Given the description of an element on the screen output the (x, y) to click on. 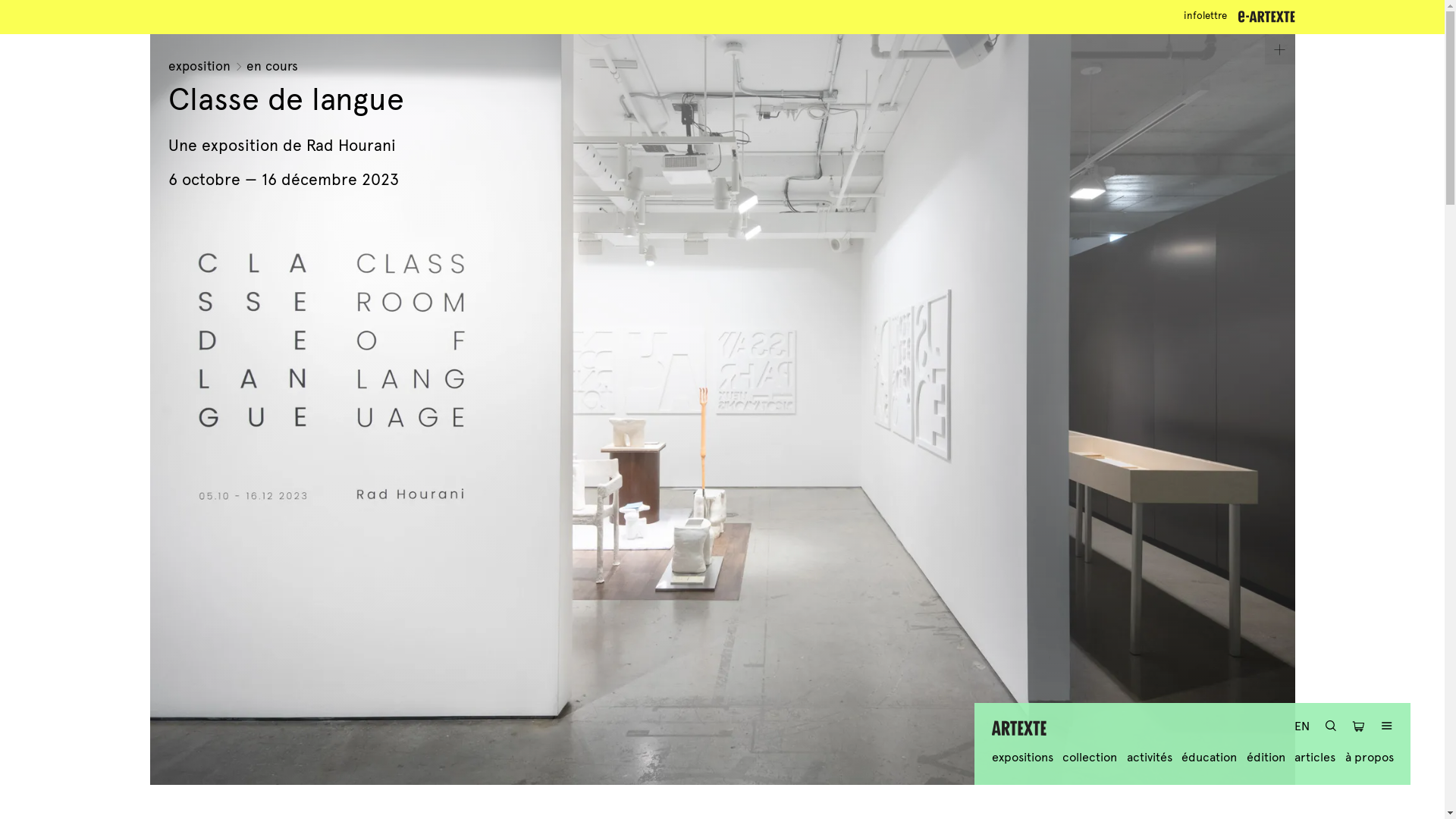
EN Element type: text (1301, 725)
collection Element type: text (1089, 756)
articles Element type: text (1314, 756)
expositions Element type: text (1022, 756)
en cours Element type: text (272, 66)
PANIER Element type: text (1359, 727)
Classe de langue Element type: text (286, 99)
infolettre Element type: text (1204, 15)
